Given the description of an element on the screen output the (x, y) to click on. 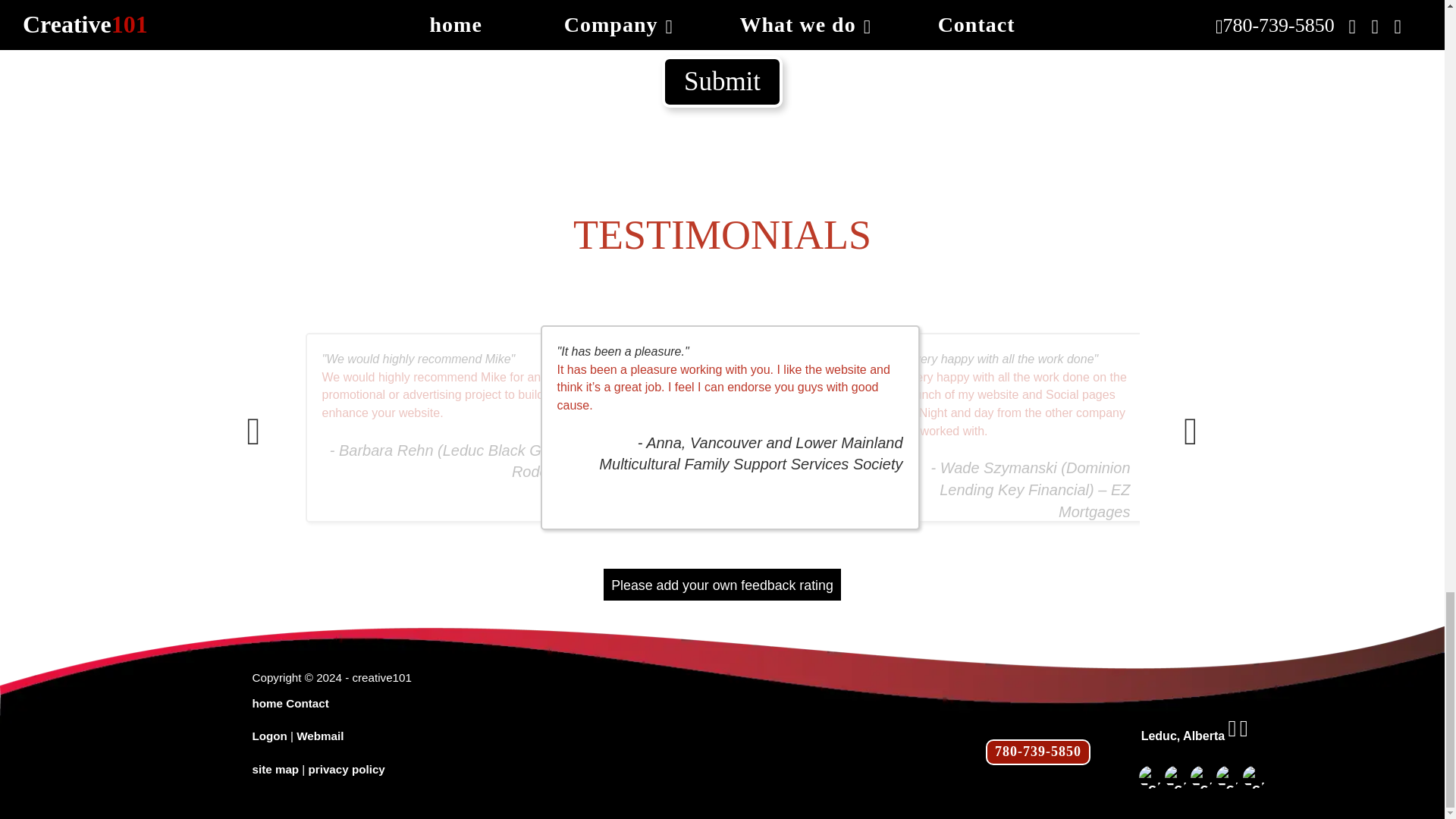
logon (268, 735)
webmail (320, 735)
Our Sitemap (346, 768)
Submit (722, 81)
Our Sitemap (274, 768)
submit your information (722, 81)
Creative101 - Phone Number (1037, 751)
